Given the description of an element on the screen output the (x, y) to click on. 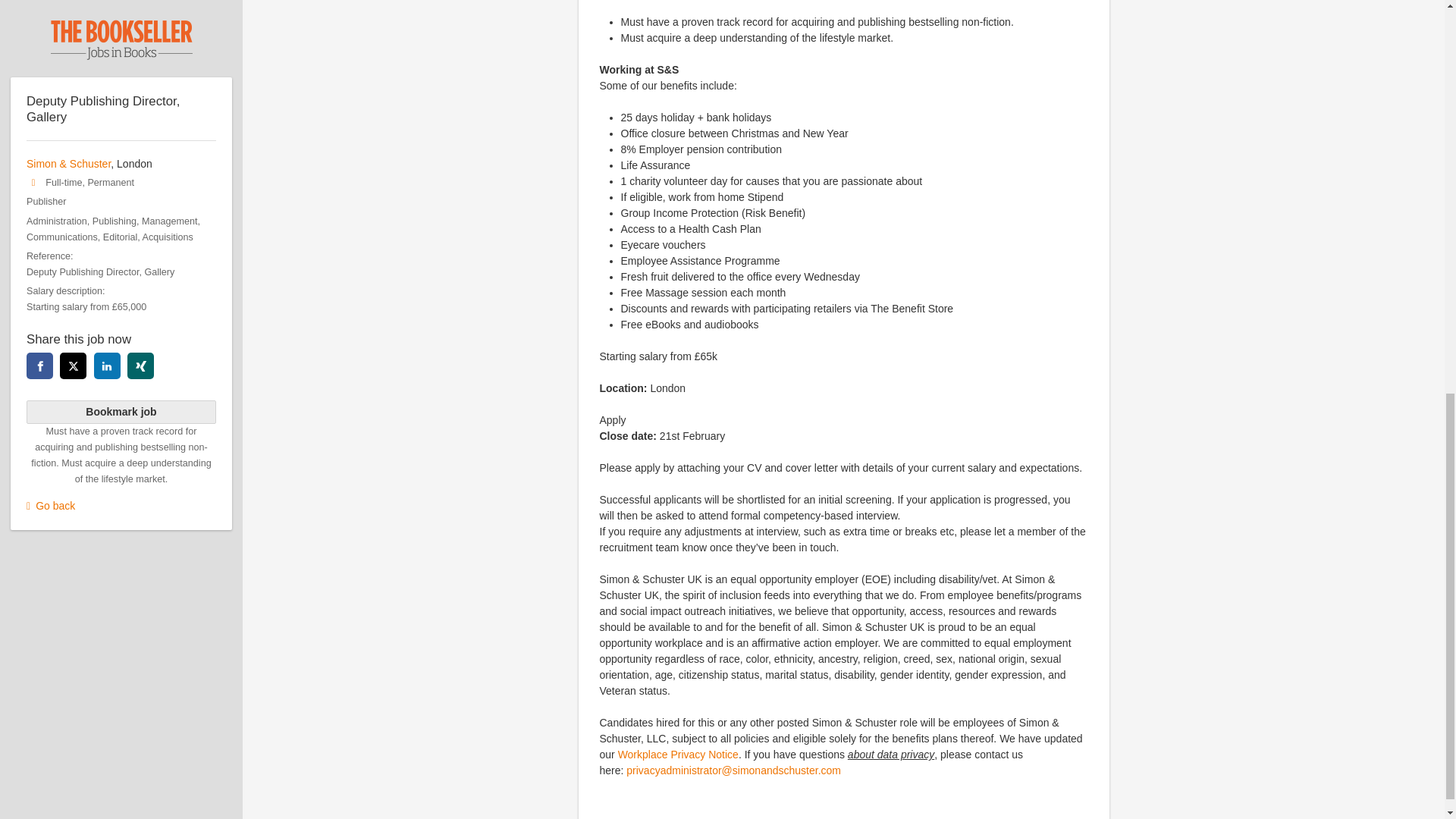
Workplace Privacy Notice (677, 754)
